Given the description of an element on the screen output the (x, y) to click on. 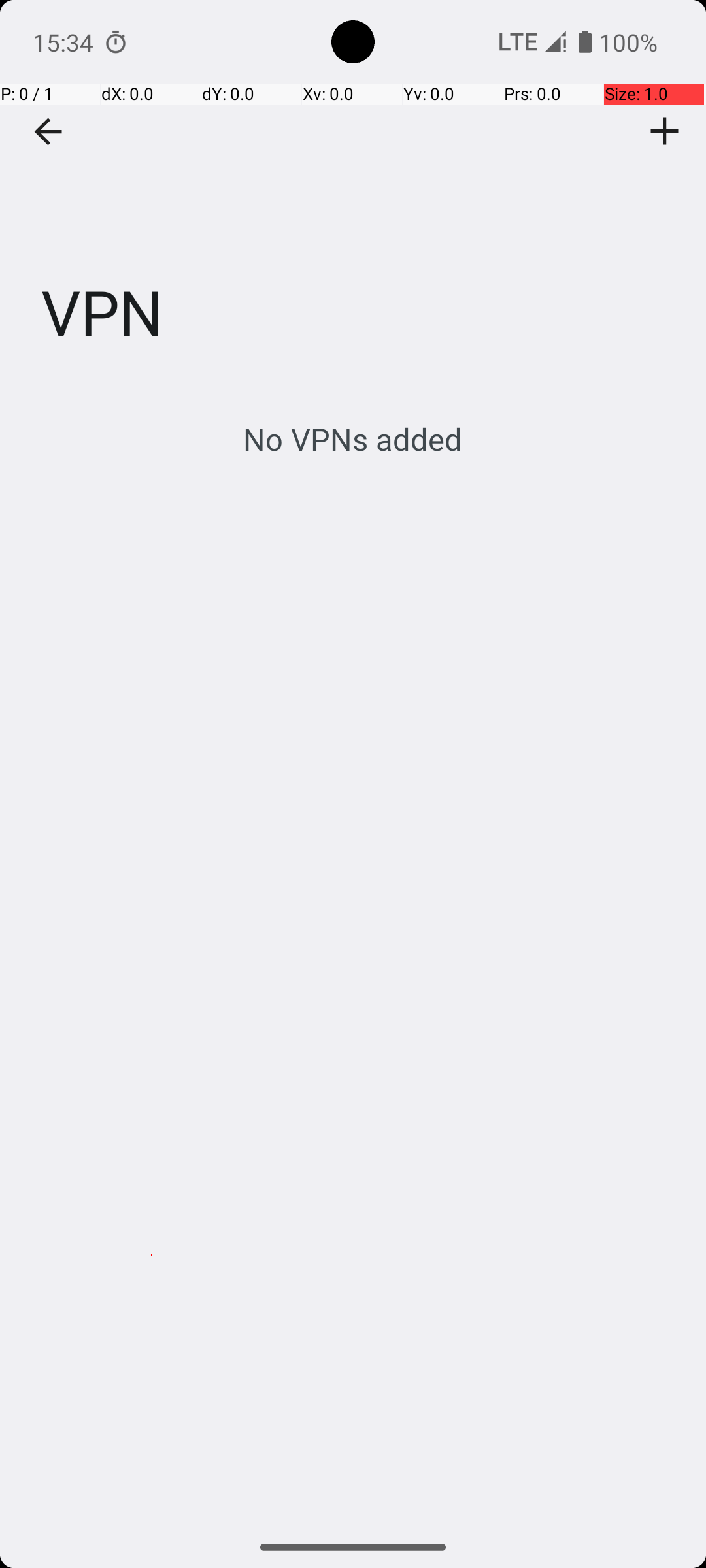
No VPNs added Element type: android.widget.TextView (352, 438)
Add VPN profile Element type: android.widget.TextView (664, 131)
